Given the description of an element on the screen output the (x, y) to click on. 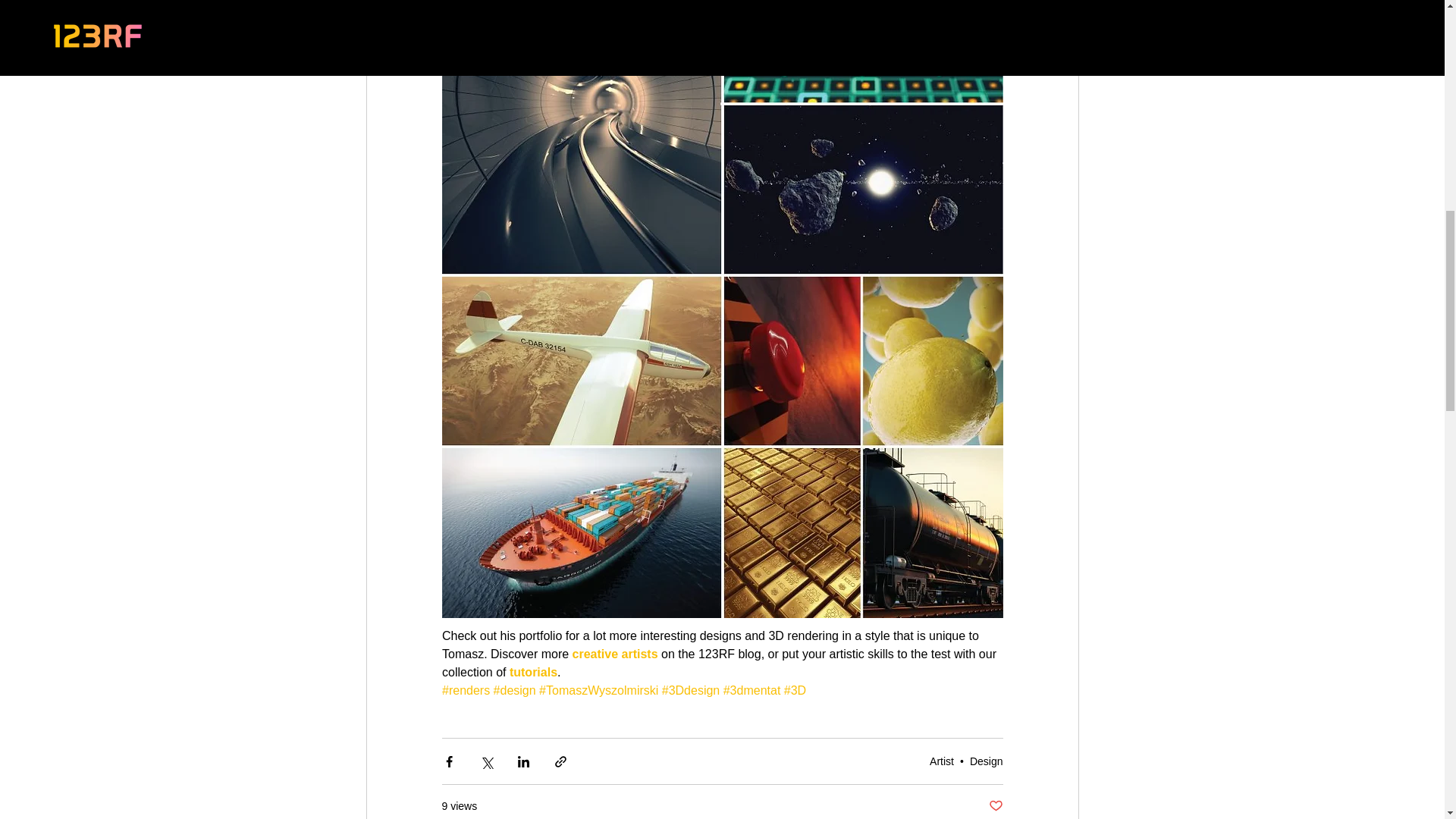
creative artists (615, 653)
tutorials (532, 671)
